Given the description of an element on the screen output the (x, y) to click on. 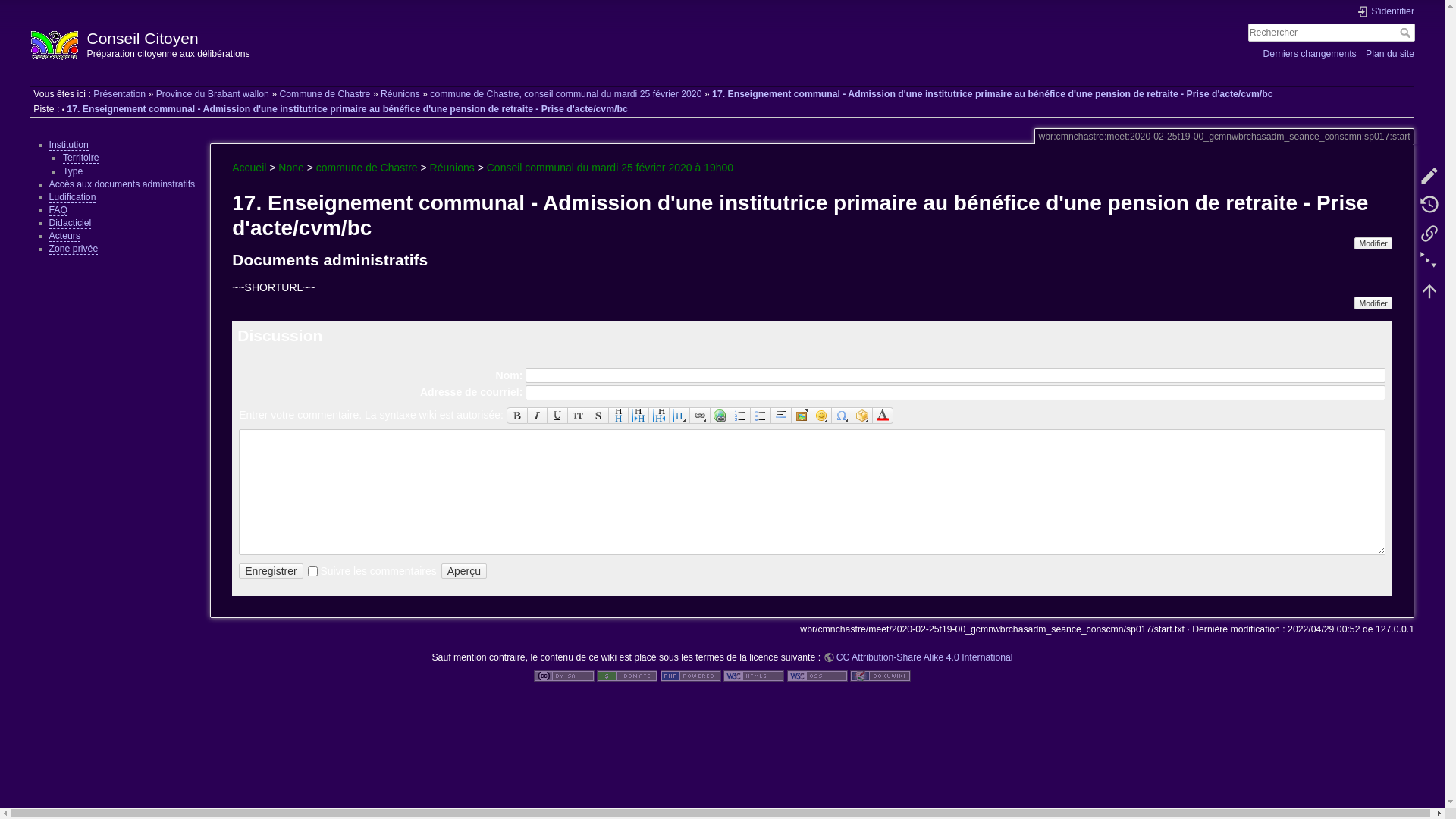
Accueil Element type: text (249, 167)
None Element type: text (290, 167)
Valid HTML5 Element type: hover (753, 674)
Lien externe Element type: hover (720, 415)
Modifier cette page [e] Element type: hover (1429, 174)
Soulignage [U] Element type: hover (557, 415)
Haut de page [t] Element type: hover (1429, 290)
Driven by DokuWiki Element type: hover (880, 674)
Derniers changements Element type: text (1308, 53)
[F] Element type: hover (1331, 32)
Ajouter des images ou autres fichiers Element type: hover (801, 415)
commune de Chastre Element type: text (366, 167)
Type Element type: text (72, 171)
S'identifier Element type: text (1385, 11)
Rechercher Element type: text (1406, 32)
Acteurs Element type: text (64, 235)
Powered by PHP Element type: hover (690, 674)
Institution Element type: text (67, 144)
Territoire Element type: text (80, 157)
Modifier Element type: text (1373, 243)
CC Attribution-Share Alike 4.0 International Element type: text (918, 657)
Discussion Element type: text (279, 335)
Commune de Chastre Element type: text (324, 93)
Liens de retour Element type: hover (1429, 232)
Extension Wrap Element type: hover (862, 415)
Enregistrer Element type: text (270, 571)
FAQ Element type: text (57, 210)
Valid CSS Element type: hover (817, 674)
Province du Brabant wallon Element type: text (212, 93)
Lien interne [L] Element type: hover (700, 415)
Conseil Citoyen Element type: text (369, 34)
Gras [B] Element type: hover (516, 415)
Ligne horizontale Element type: hover (781, 415)
Didacticiel Element type: text (69, 223)
Italique [I] Element type: hover (537, 415)
Donate Element type: hover (626, 674)
Enregistrer [S] Element type: hover (270, 571)
Modifier Element type: text (1373, 302)
Plan du site Element type: text (1389, 53)
Color Text Element type: hover (882, 415)
Ludification Element type: text (71, 197)
